Given the description of an element on the screen output the (x, y) to click on. 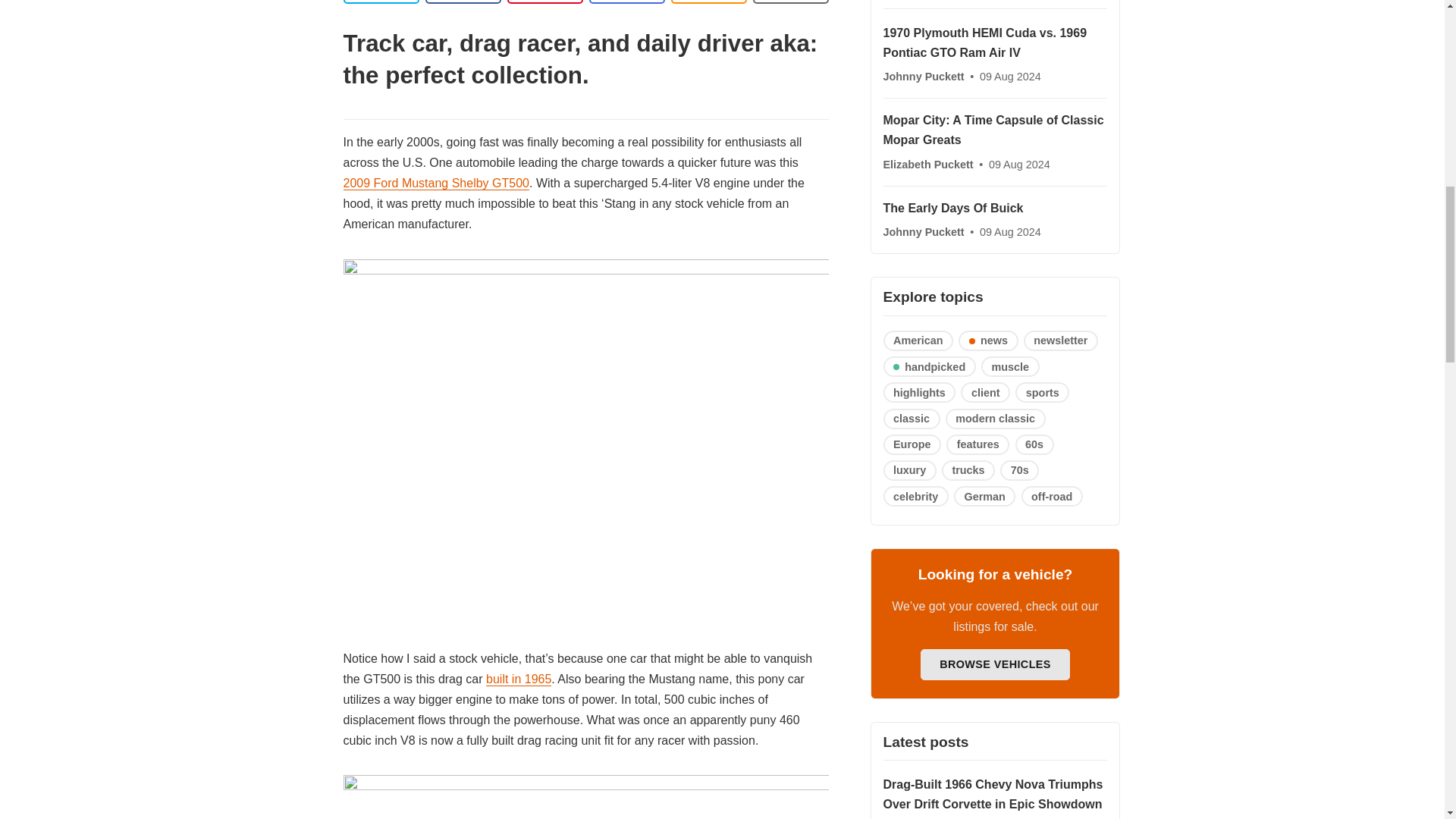
Johnny Puckett (924, 76)
Share by email (625, 1)
Bookmark (790, 1)
Copy to clipboard (707, 1)
news (987, 340)
Share on Facebook (462, 1)
American (917, 340)
2009 Ford Mustang Shelby GT500 (435, 183)
Share on Linkedin (544, 1)
built in 1965 (518, 679)
